Given the description of an element on the screen output the (x, y) to click on. 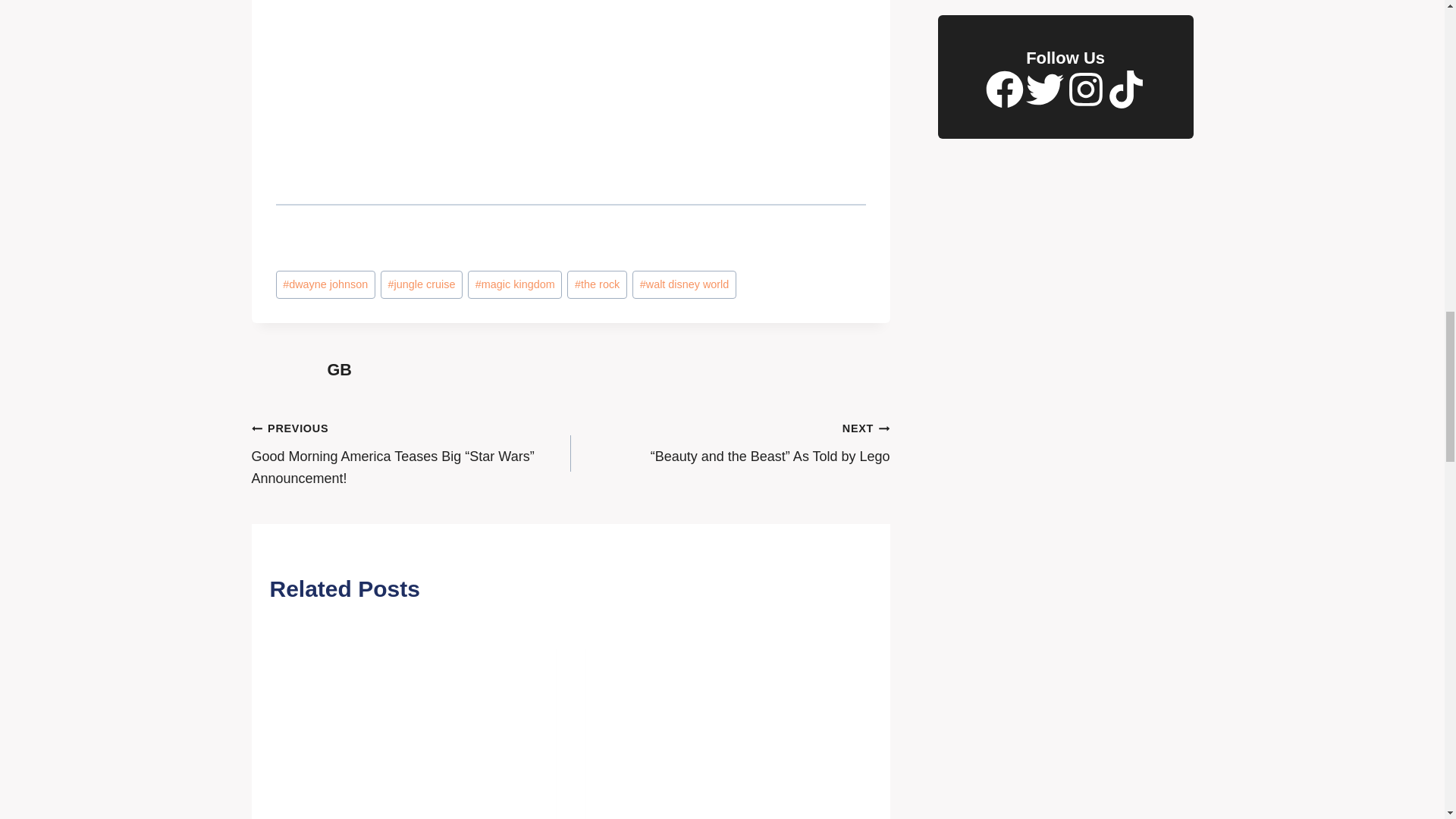
Posts by GB (339, 369)
the rock (596, 284)
dwayne johnson (325, 284)
magic kingdom (514, 284)
walt disney world (683, 284)
jungle cruise (421, 284)
